Given the description of an element on the screen output the (x, y) to click on. 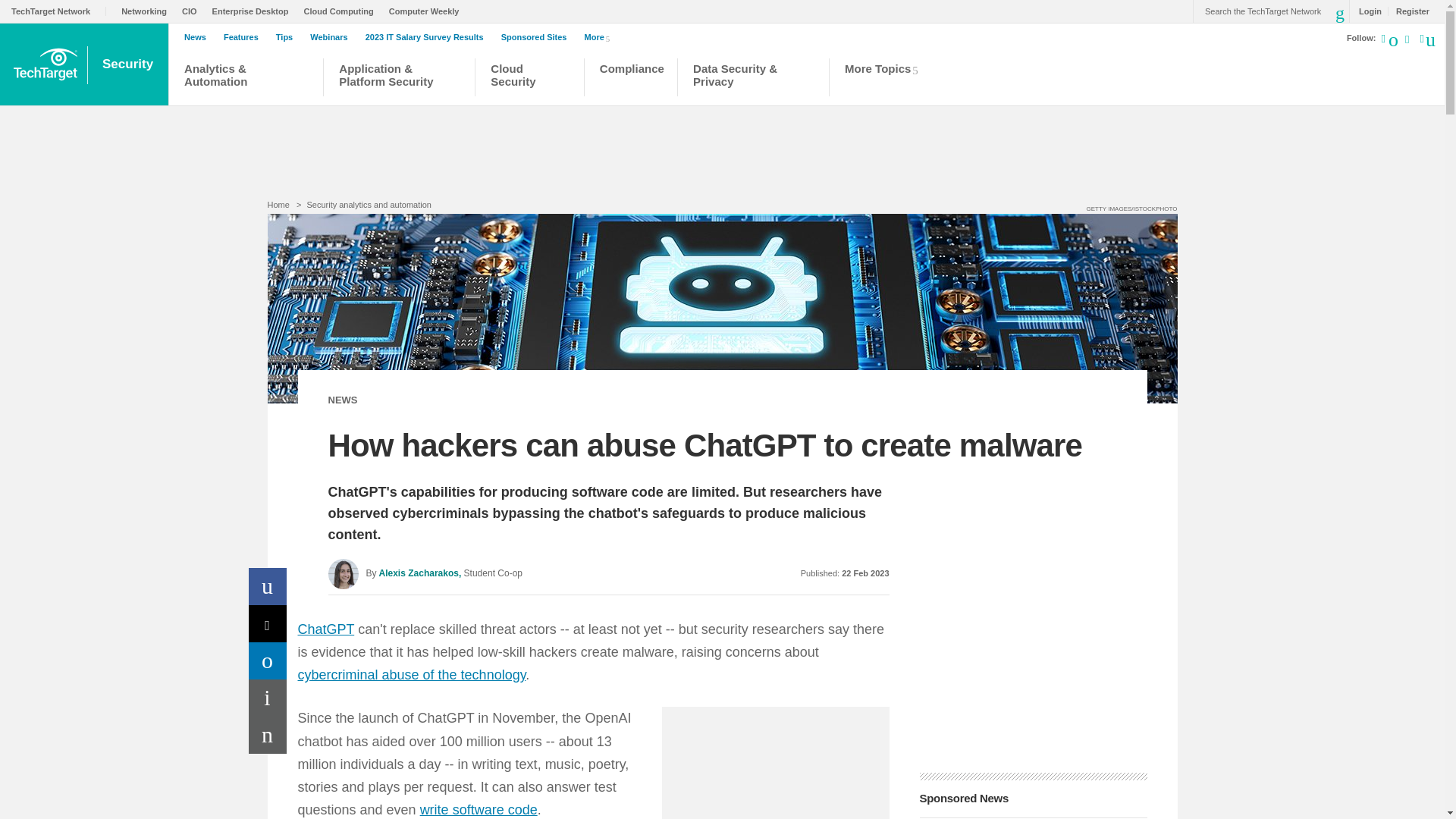
Features (245, 36)
More (600, 36)
News (199, 36)
Networking (147, 10)
Register (1408, 10)
Login (1366, 10)
Compliance (630, 79)
Share on LinkedIn (267, 660)
Enterprise Desktop (254, 10)
Computer Weekly (427, 10)
